Given the description of an element on the screen output the (x, y) to click on. 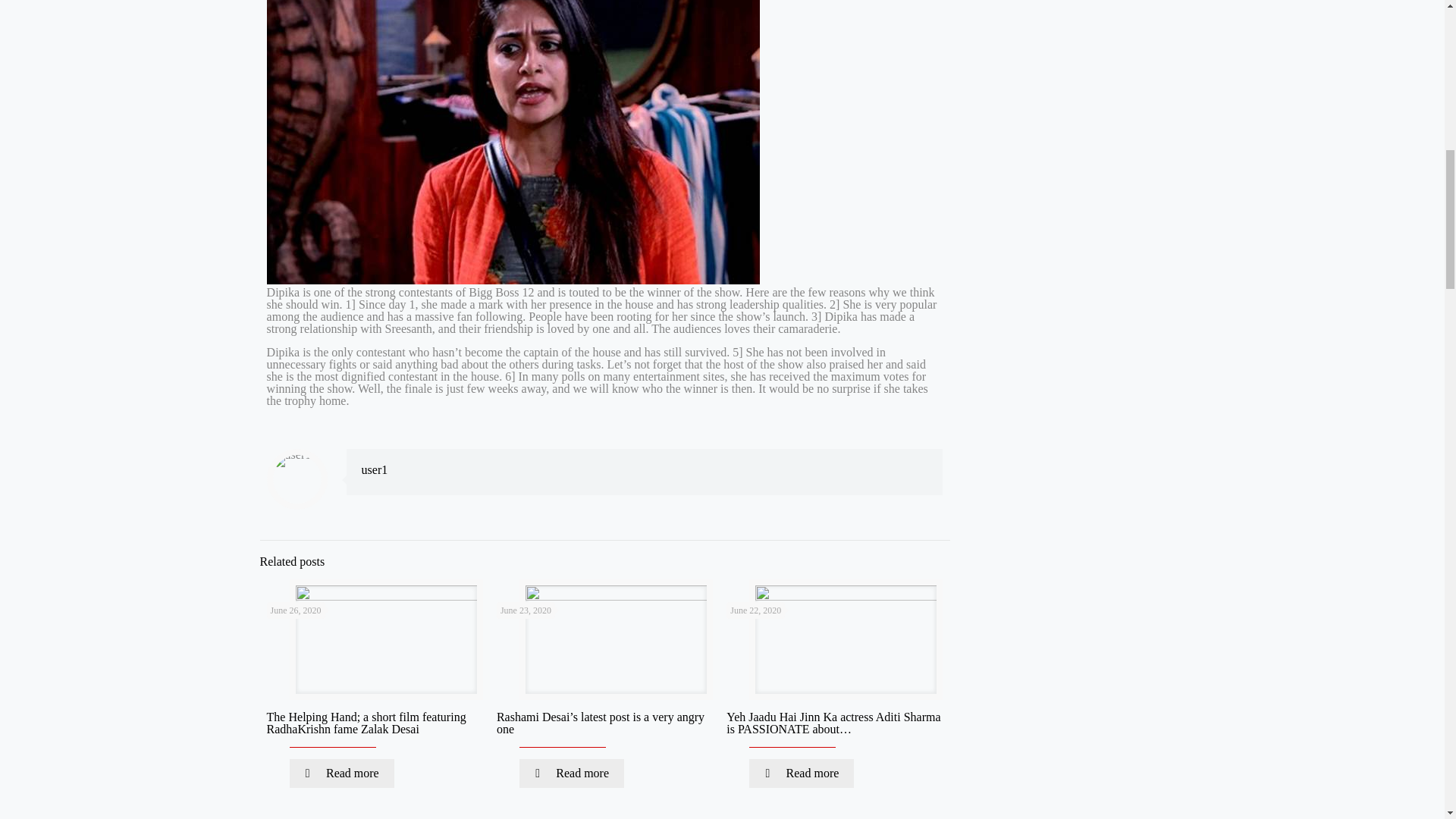
Read more (341, 773)
Read more (571, 773)
Read more (801, 773)
user1 (374, 469)
